Given the description of an element on the screen output the (x, y) to click on. 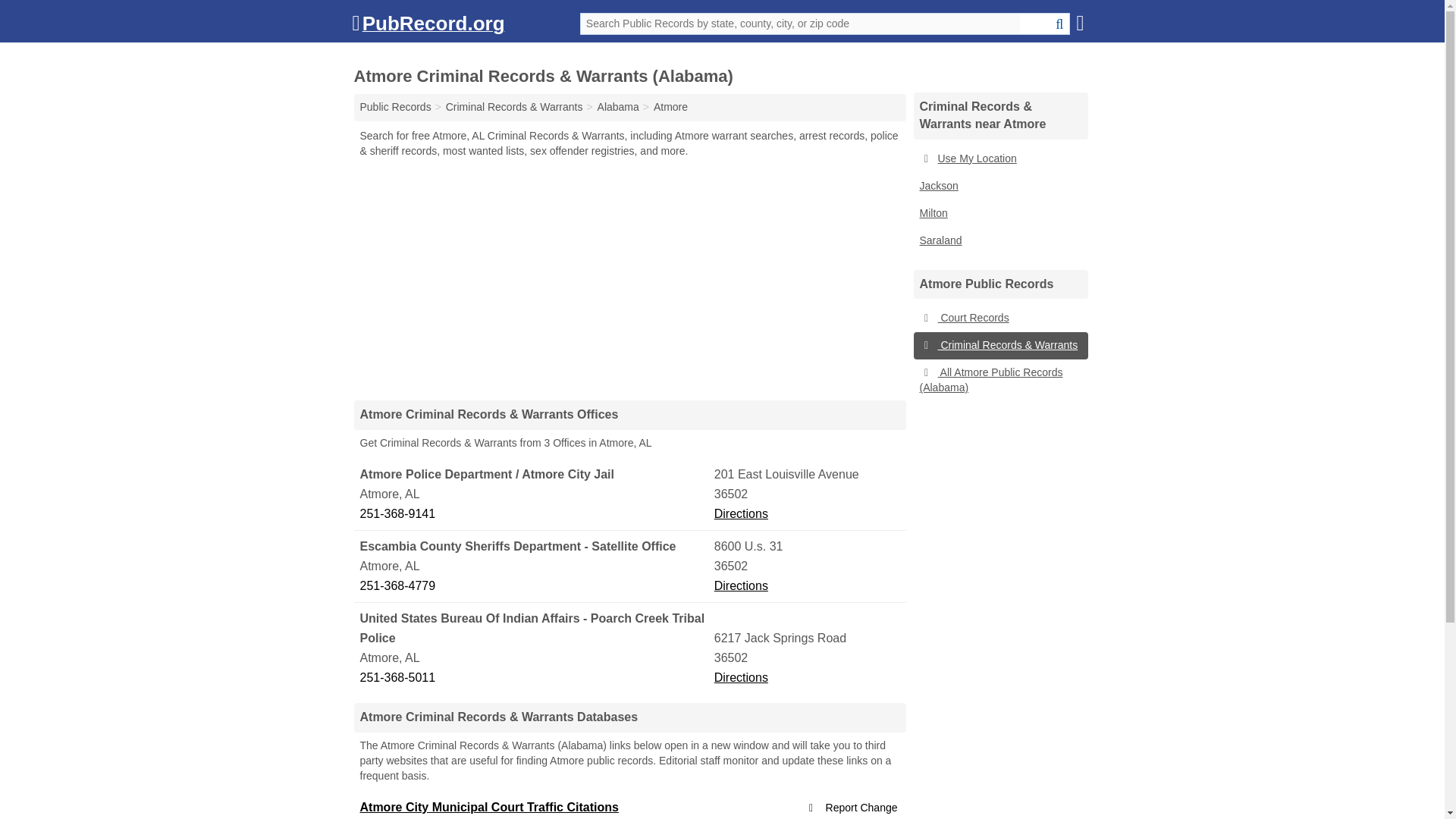
PubRecord.org (427, 26)
251-368-4779 (534, 586)
251-368-5011 (534, 677)
Directions (741, 513)
Saraland (999, 240)
Atmore (670, 106)
Court Records (999, 318)
Milton (999, 213)
Directions (741, 585)
Jackson (999, 185)
